Given the description of an element on the screen output the (x, y) to click on. 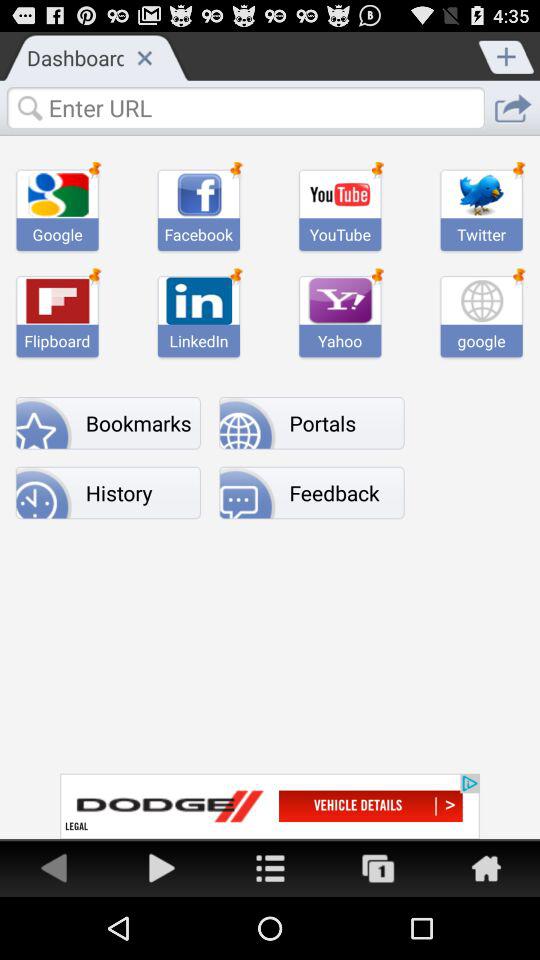
toggle windows (378, 867)
